Given the description of an element on the screen output the (x, y) to click on. 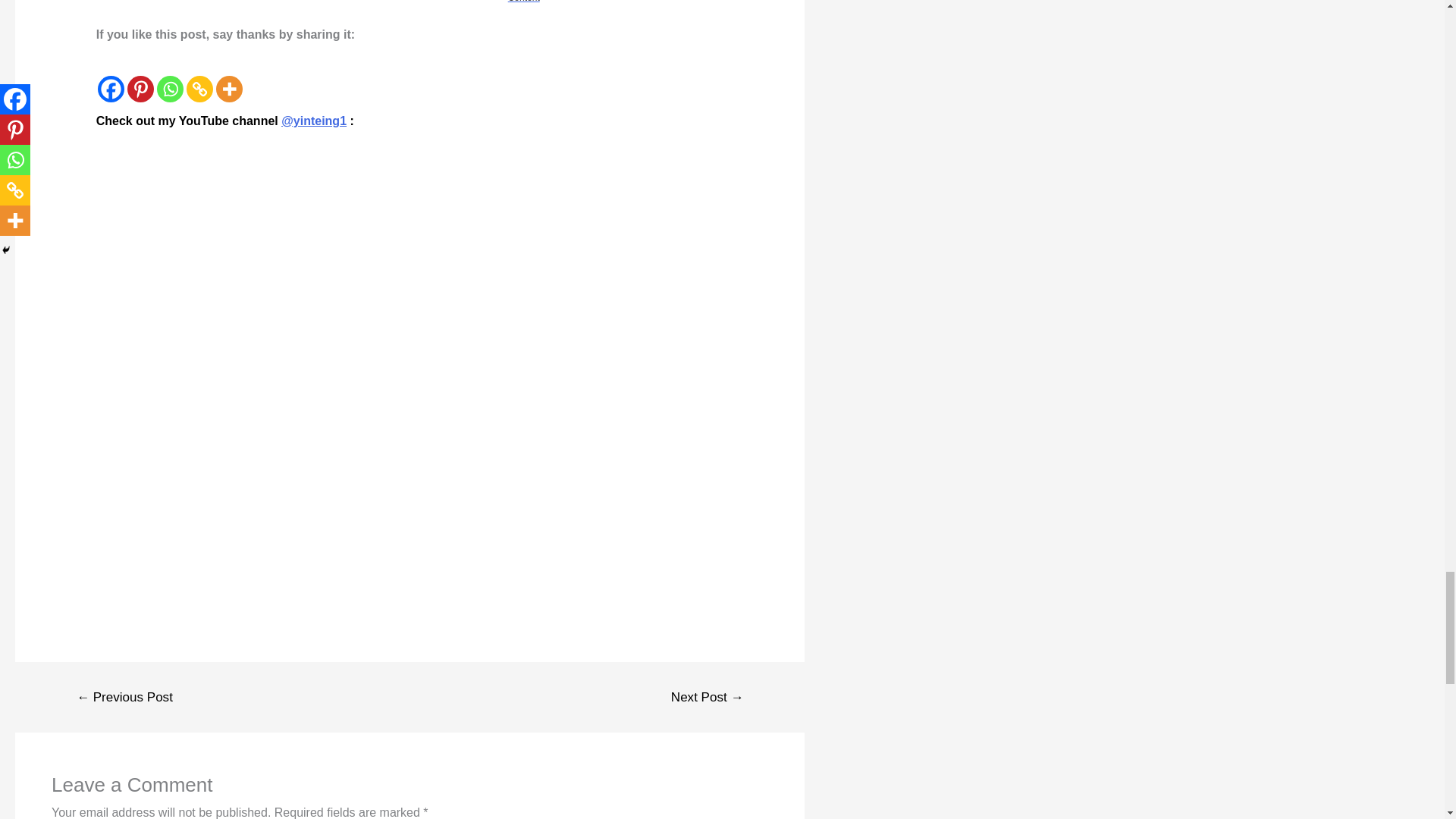
YouTube video player (308, 251)
Traditional Chinese and Nyonya kuih at local markets (401, 9)
An array of thirst quenchers- Malaysian drinks (279, 9)
Homi Curry Puffs- quite well known in PJ (157, 9)
